Given the description of an element on the screen output the (x, y) to click on. 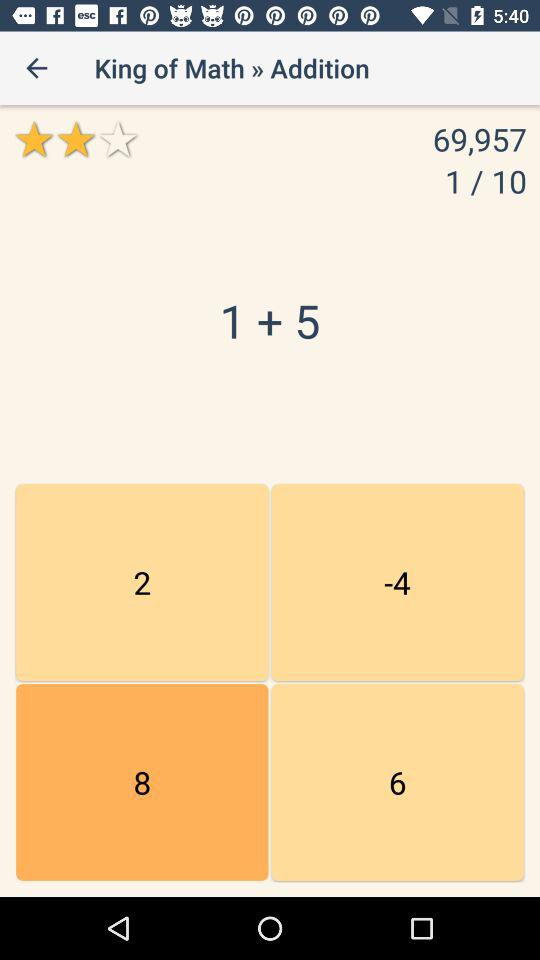
open the item at the bottom right corner (397, 781)
